Given the description of an element on the screen output the (x, y) to click on. 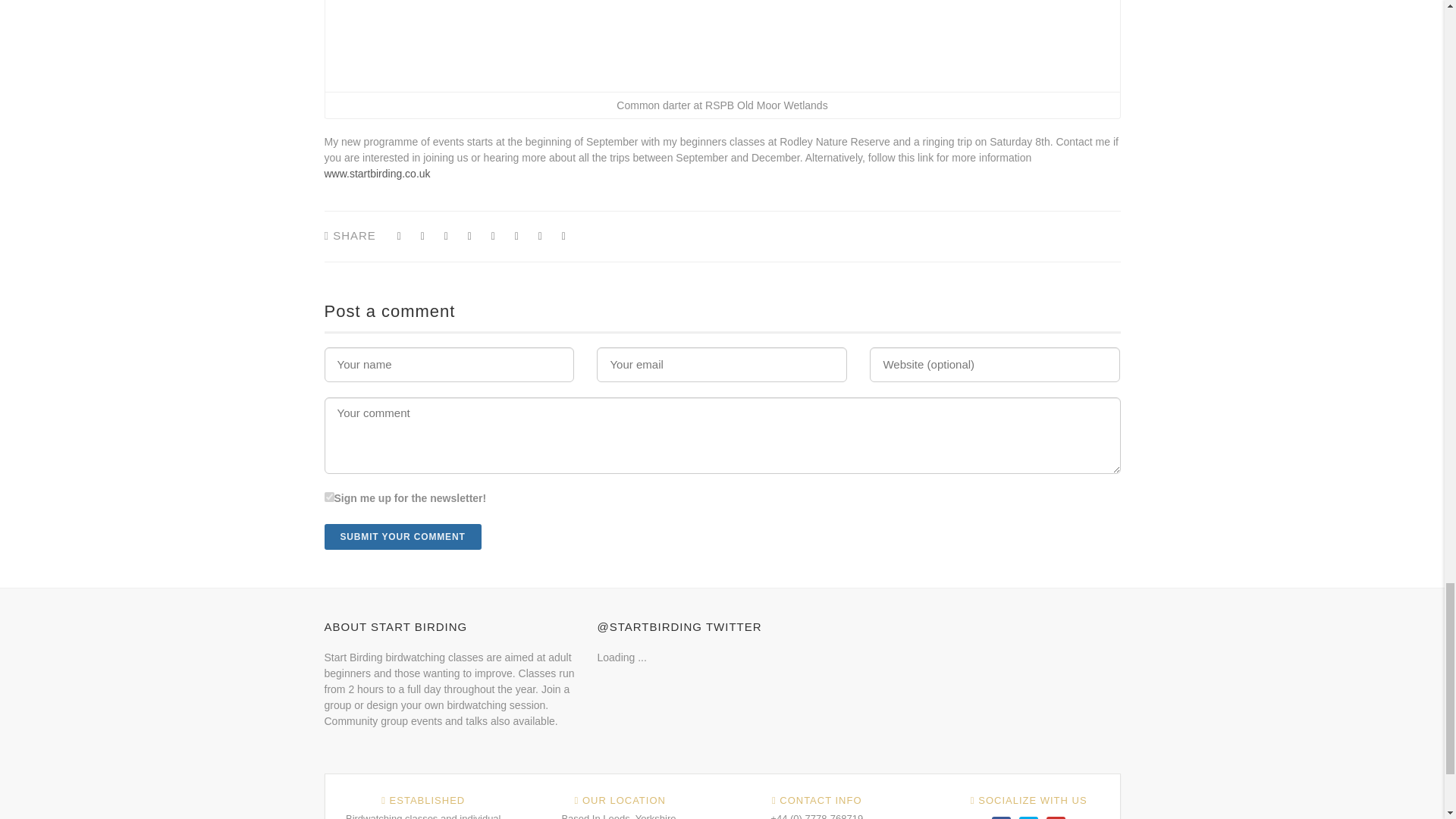
Tweet (422, 235)
Submit your comment (402, 536)
Share on Facebook (399, 235)
1 (329, 497)
Post to Tumblr (469, 235)
Submit to Reddit (515, 235)
Pin it (492, 235)
Email (563, 235)
Share on Linkedin (540, 235)
Share on Facebook (445, 235)
